Given the description of an element on the screen output the (x, y) to click on. 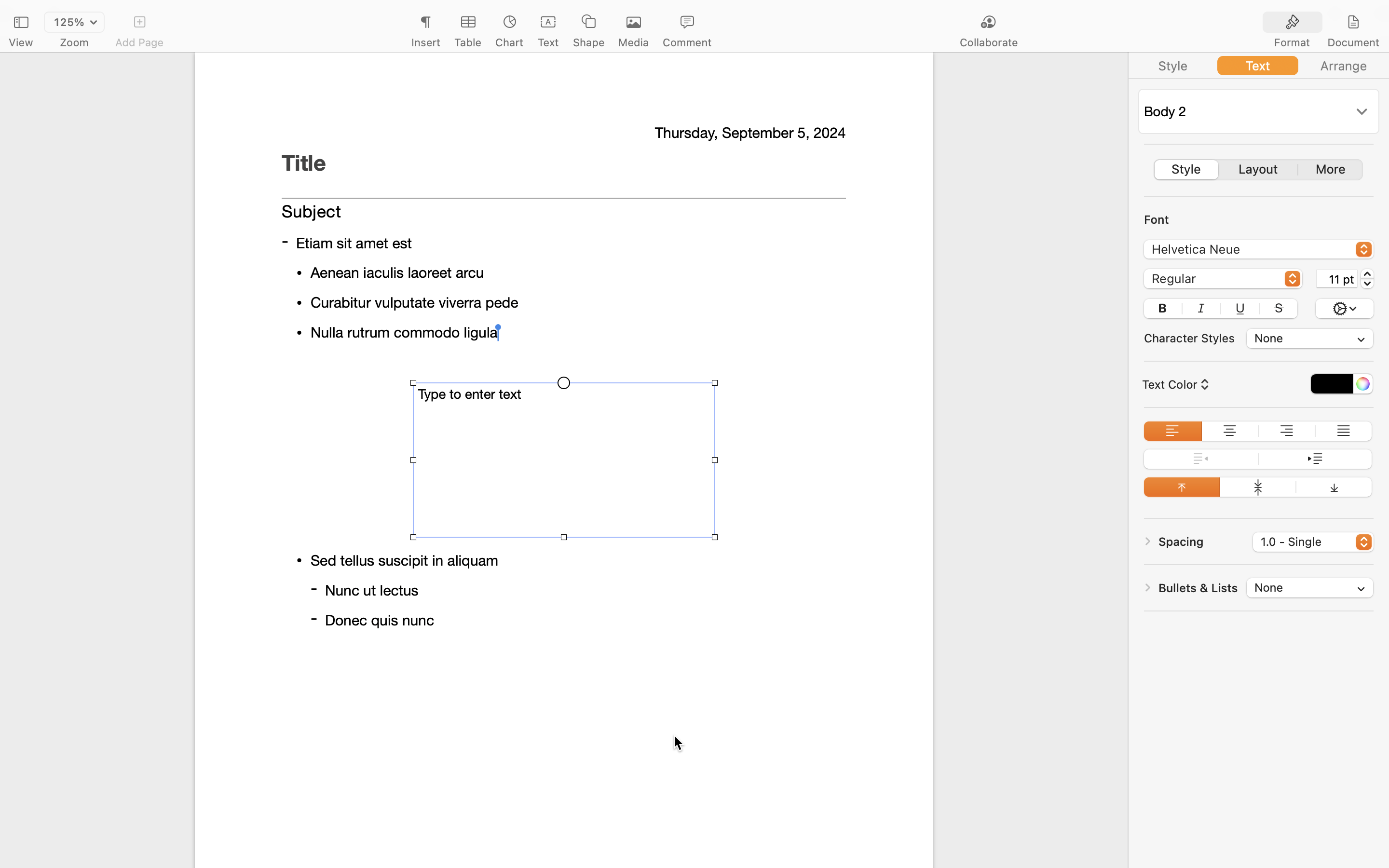
<AXUIElement 0x2a0bf2420> {pid=1482} Element type: AXGroup (1322, 22)
1.0 - Single Element type: AXPopUpButton (1313, 543)
<AXUIElement 0x29036f760> {pid=1482} Element type: AXRadioGroup (1258, 65)
